Given the description of an element on the screen output the (x, y) to click on. 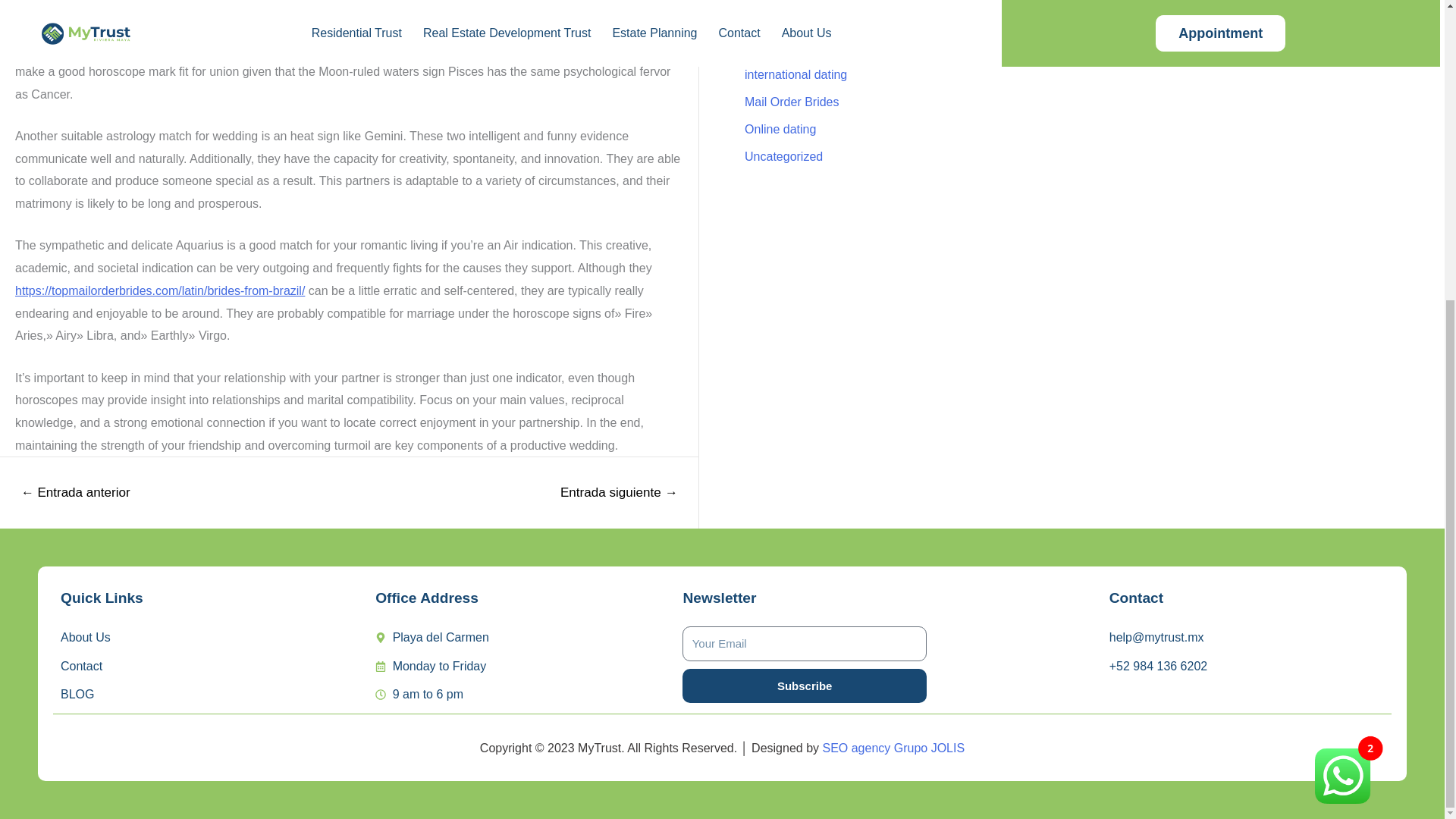
About Us (210, 637)
Online dating (779, 128)
Mail Order Brides (791, 101)
international dating (795, 74)
Uncategorized (783, 155)
